Given the description of an element on the screen output the (x, y) to click on. 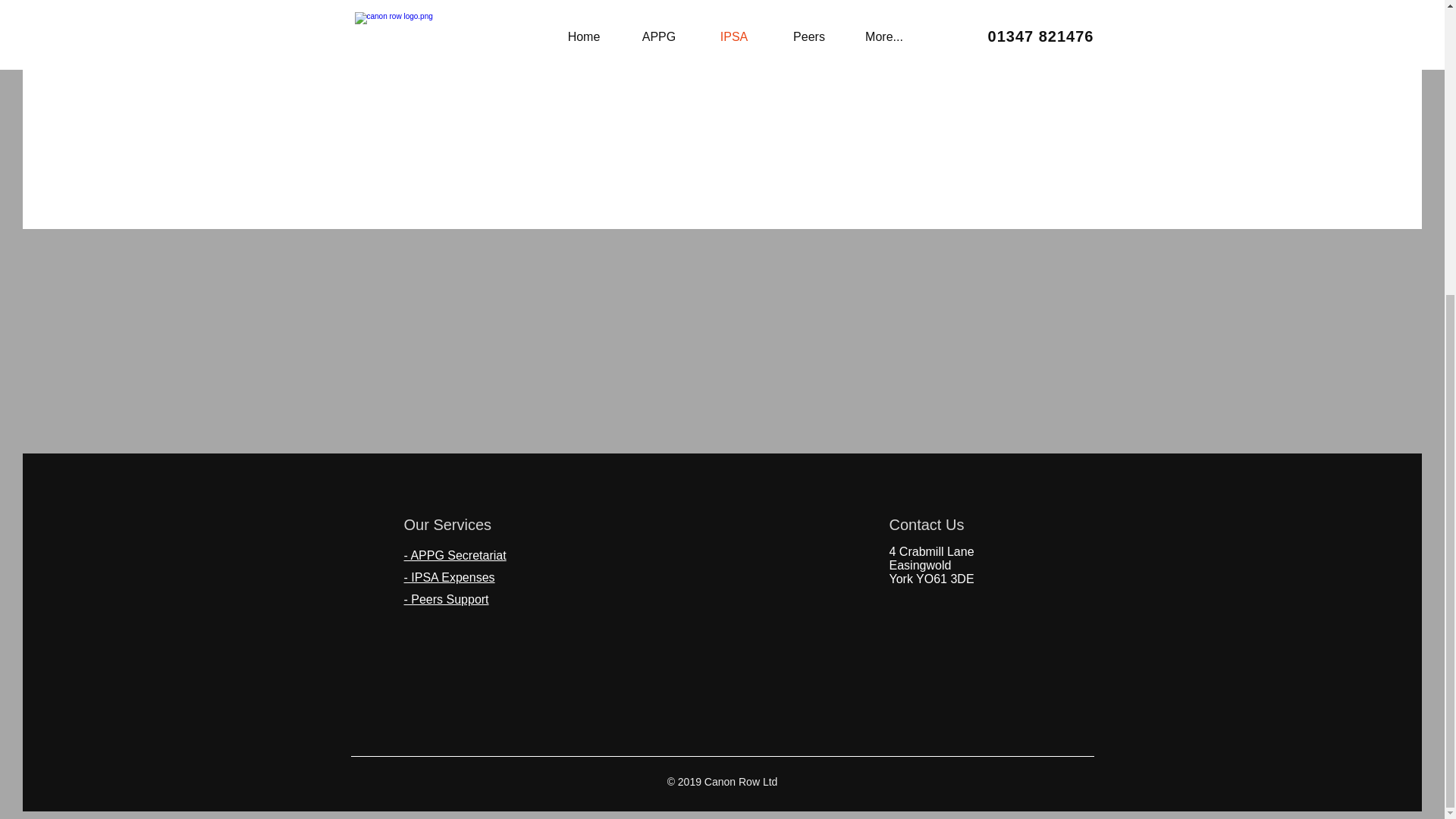
- APPG Secretariat (454, 554)
- Peers Support (445, 599)
- IPSA Expenses (449, 576)
